Given the description of an element on the screen output the (x, y) to click on. 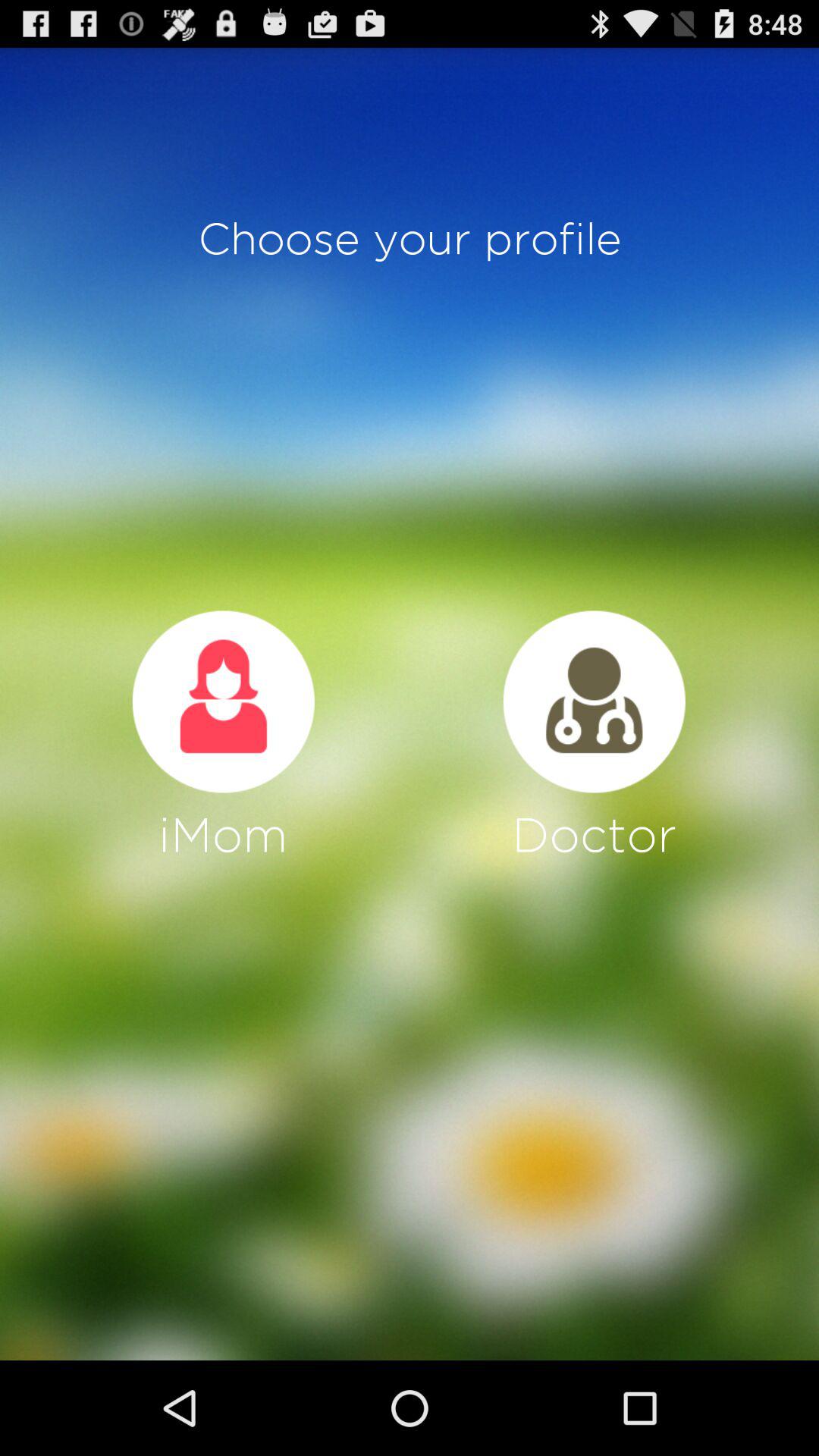
call mom (223, 701)
